Given the description of an element on the screen output the (x, y) to click on. 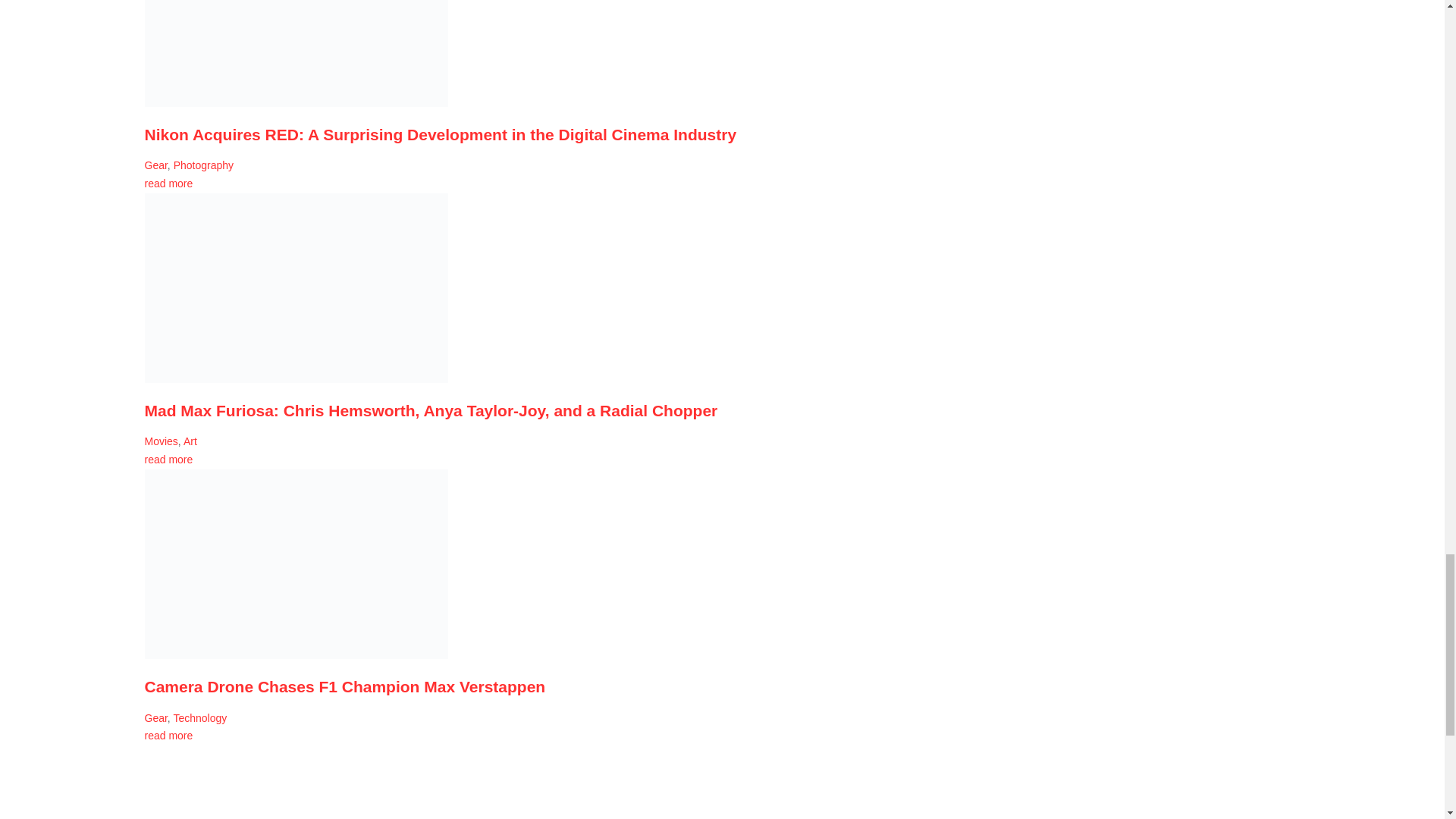
Photography (202, 164)
read more (168, 735)
Gear (155, 164)
read more (168, 459)
Technology (200, 717)
Gear (155, 717)
read more (168, 183)
Art (189, 440)
